Given the description of an element on the screen output the (x, y) to click on. 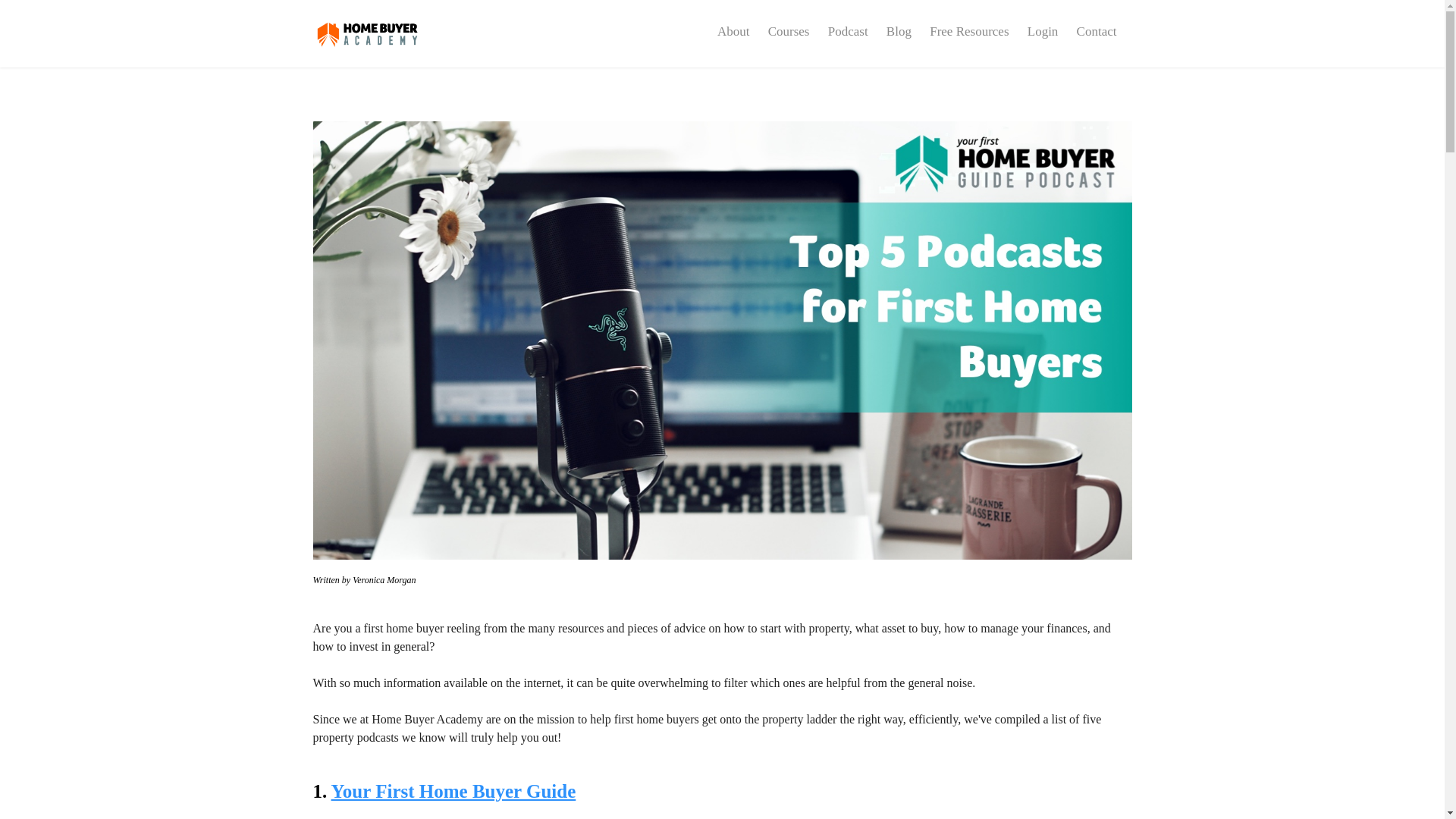
Free Resources (969, 31)
About (733, 31)
Blog (898, 31)
Courses (788, 31)
Login (1042, 31)
Your First Home Buyer Guide (453, 791)
Contact (1096, 31)
Podcast (847, 31)
